Given the description of an element on the screen output the (x, y) to click on. 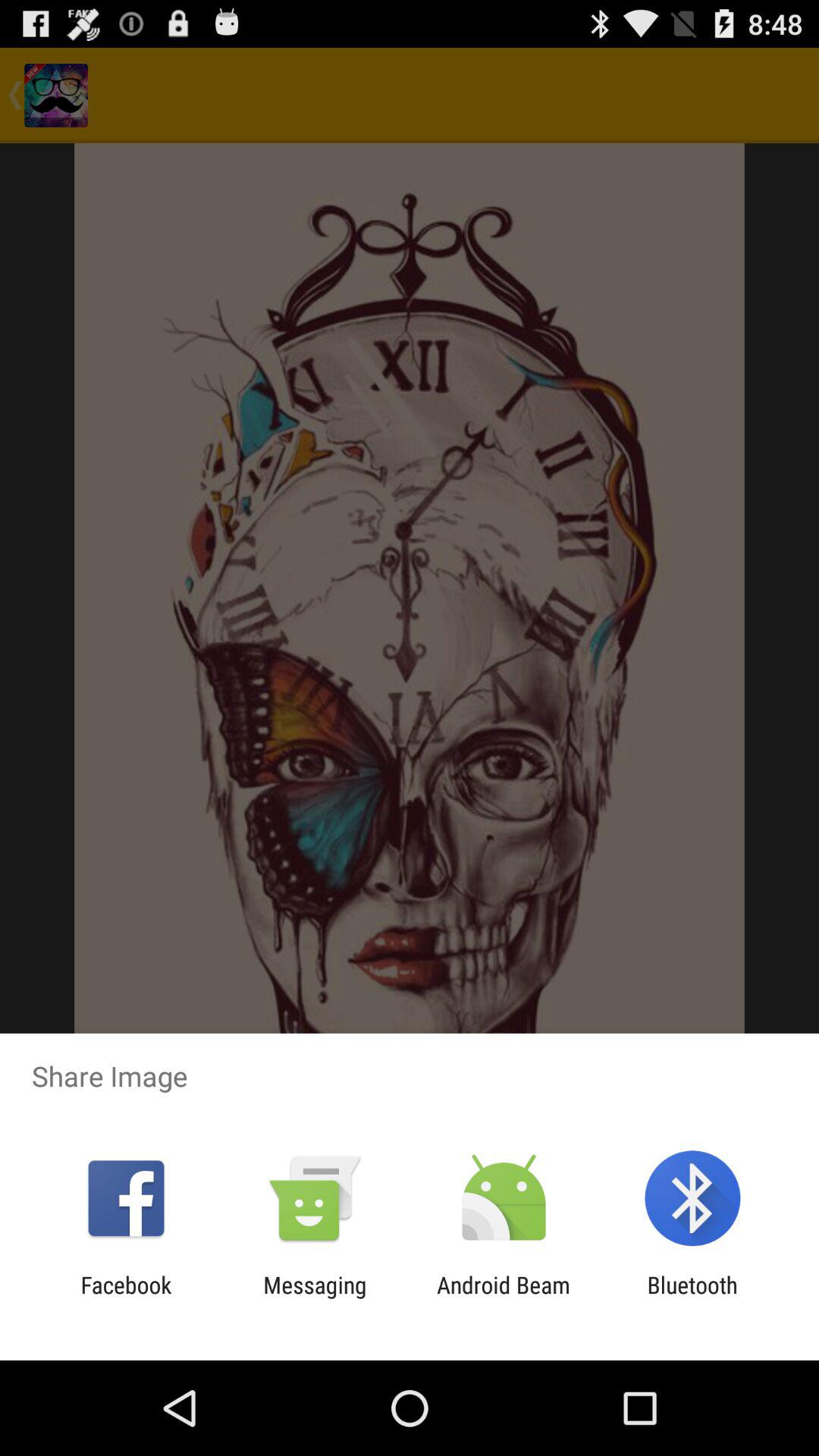
press messaging item (314, 1298)
